Given the description of an element on the screen output the (x, y) to click on. 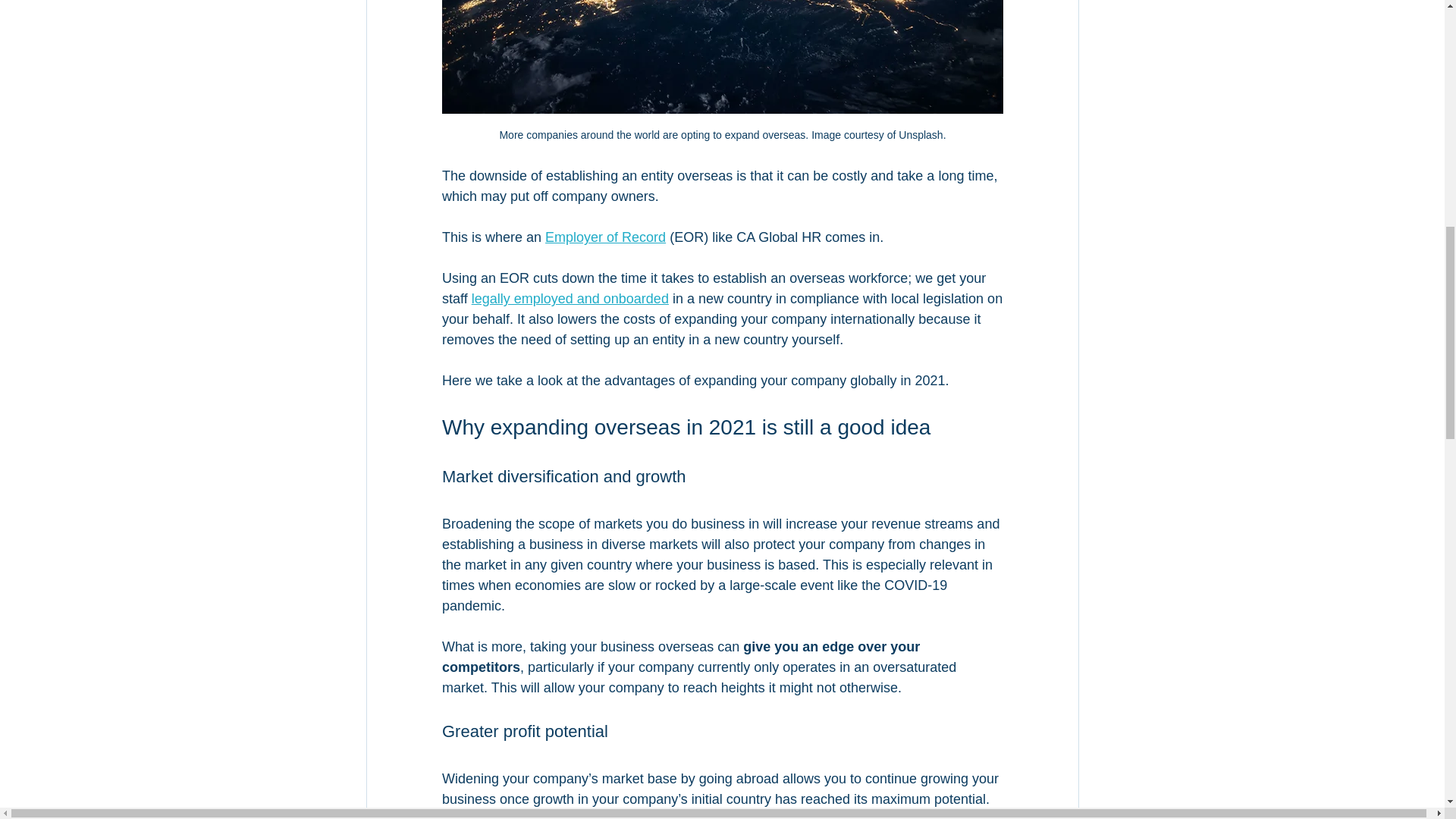
legally employed and onboarded (569, 298)
Employer of Record (604, 237)
